Given the description of an element on the screen output the (x, y) to click on. 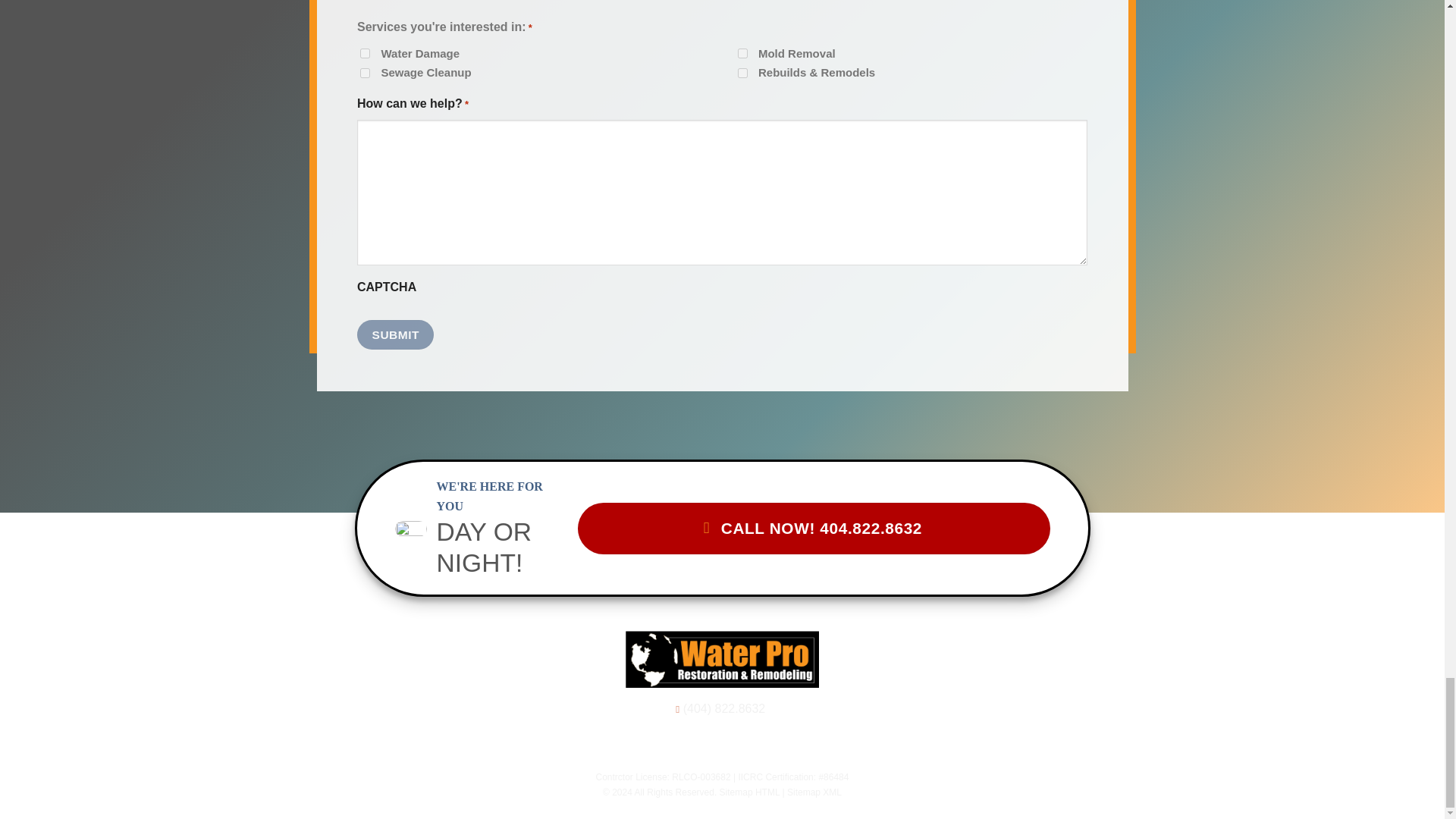
Submit (394, 334)
Sewage Cleanup (364, 72)
Follow on Instagram (711, 744)
Water Damage (364, 53)
Mold Removal (741, 53)
Follow on Facebook (691, 744)
Follow on LinkedIn (751, 744)
Follow on Twitter (732, 744)
